Given the description of an element on the screen output the (x, y) to click on. 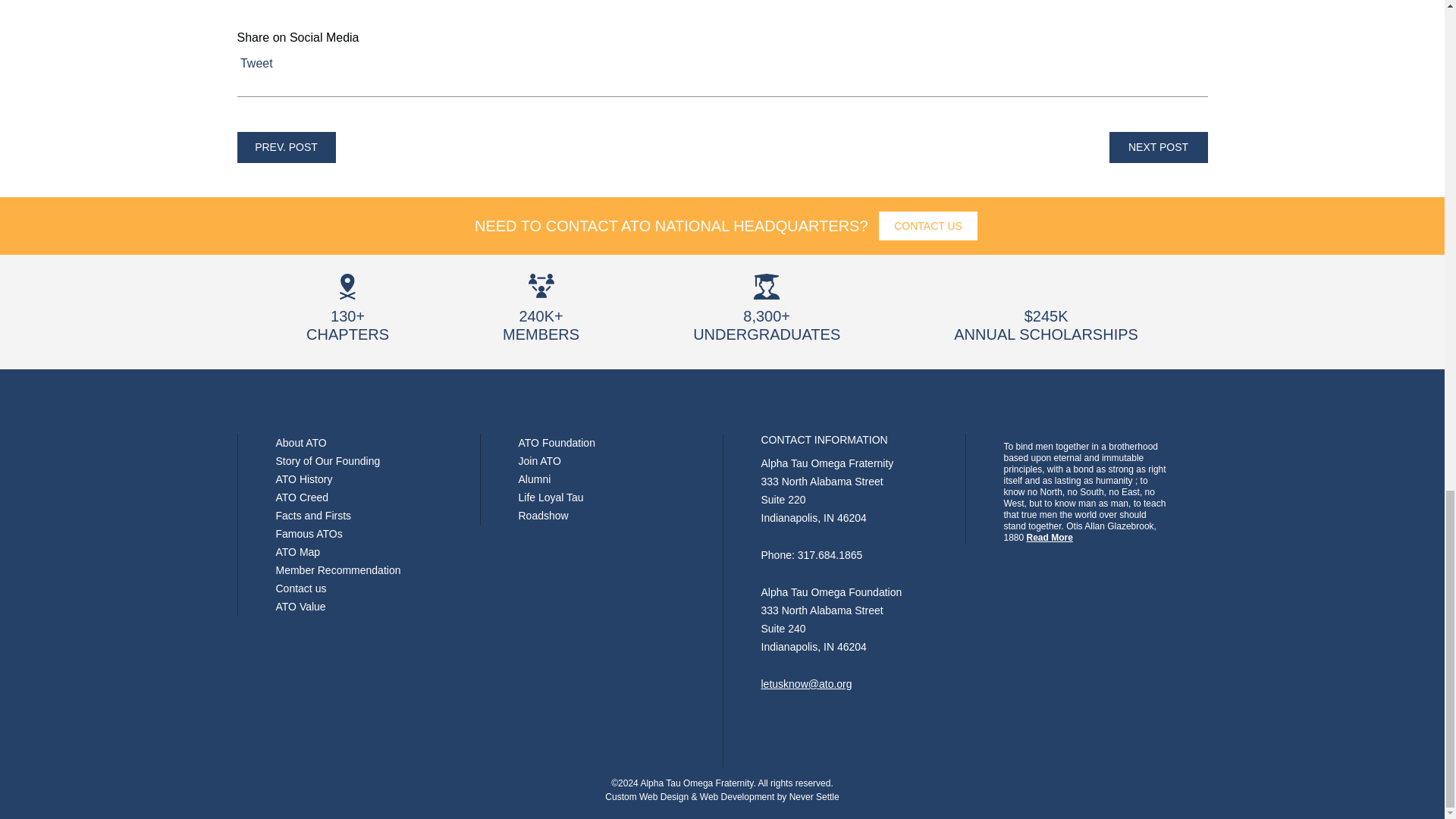
Story of Our Founding (328, 460)
Member Recommendation (338, 570)
About ATO (301, 442)
Facts and Firsts (314, 515)
ATO Foundation (556, 442)
ATO History (304, 479)
ATO Map (298, 551)
NEXT POST (1157, 146)
Contact us (301, 588)
Join ATO (539, 460)
